Given the description of an element on the screen output the (x, y) to click on. 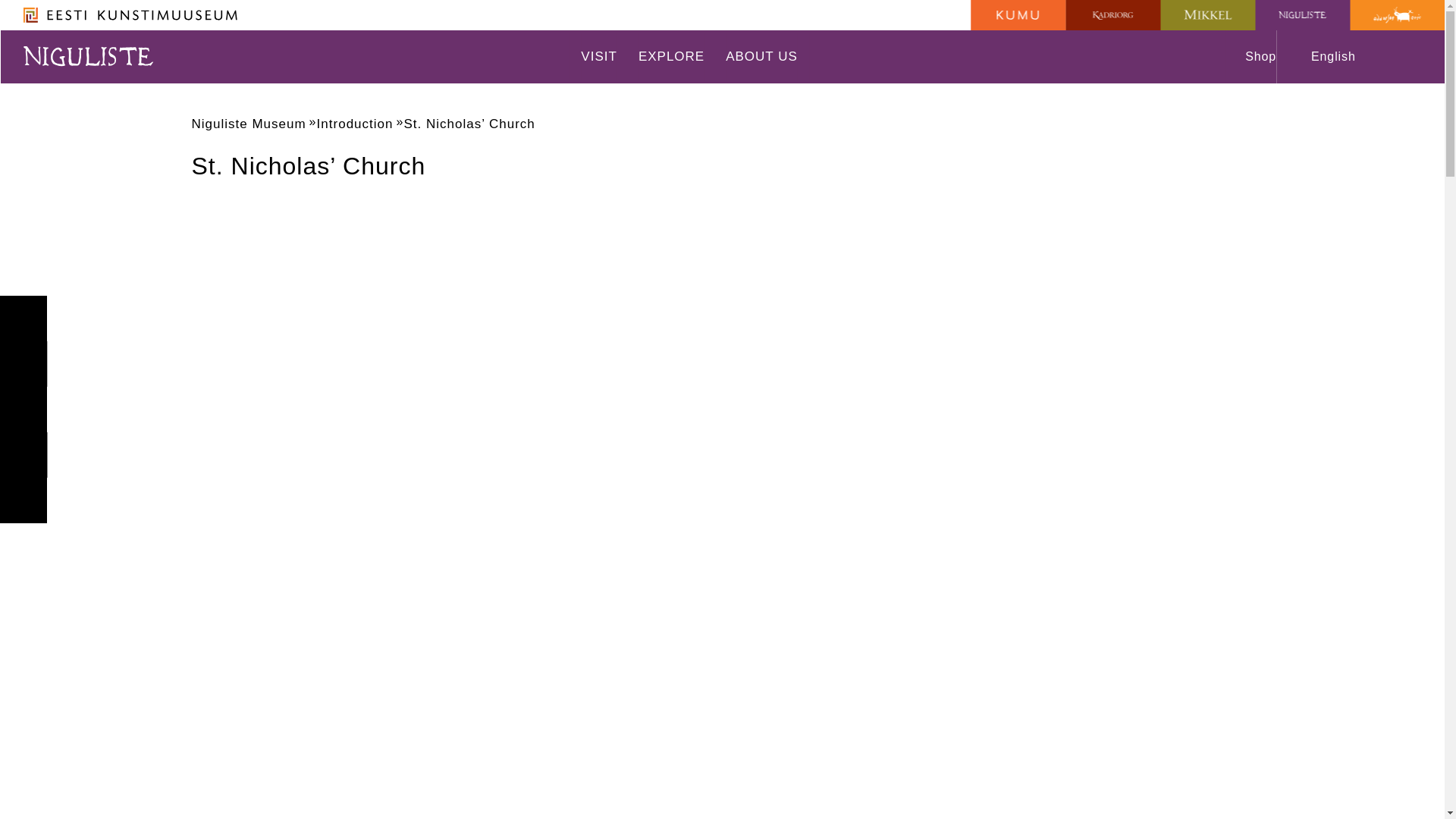
VISIT (598, 56)
EXPLORE (671, 56)
Shop (1250, 56)
FIND (1412, 56)
ABOUT US (761, 56)
English (1340, 56)
